Given the description of an element on the screen output the (x, y) to click on. 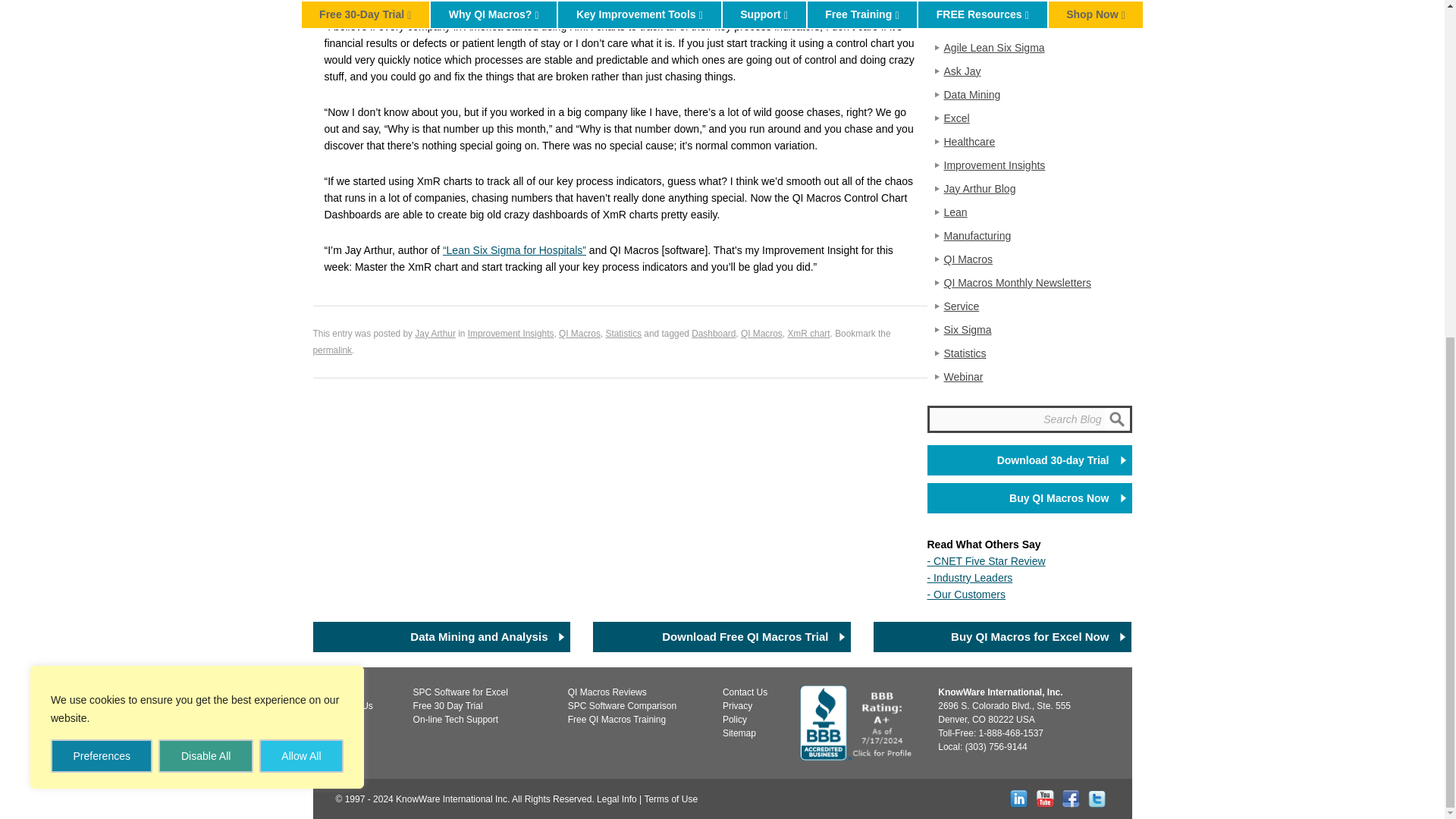
Disable All (204, 188)
Home (346, 692)
Allow All (301, 188)
Support (456, 719)
Go (1117, 419)
QI Macros Store (345, 719)
Preferences (101, 188)
Free QI Macros Trial (448, 706)
About Knowware (353, 706)
SPC Software Excel (460, 692)
